Given the description of an element on the screen output the (x, y) to click on. 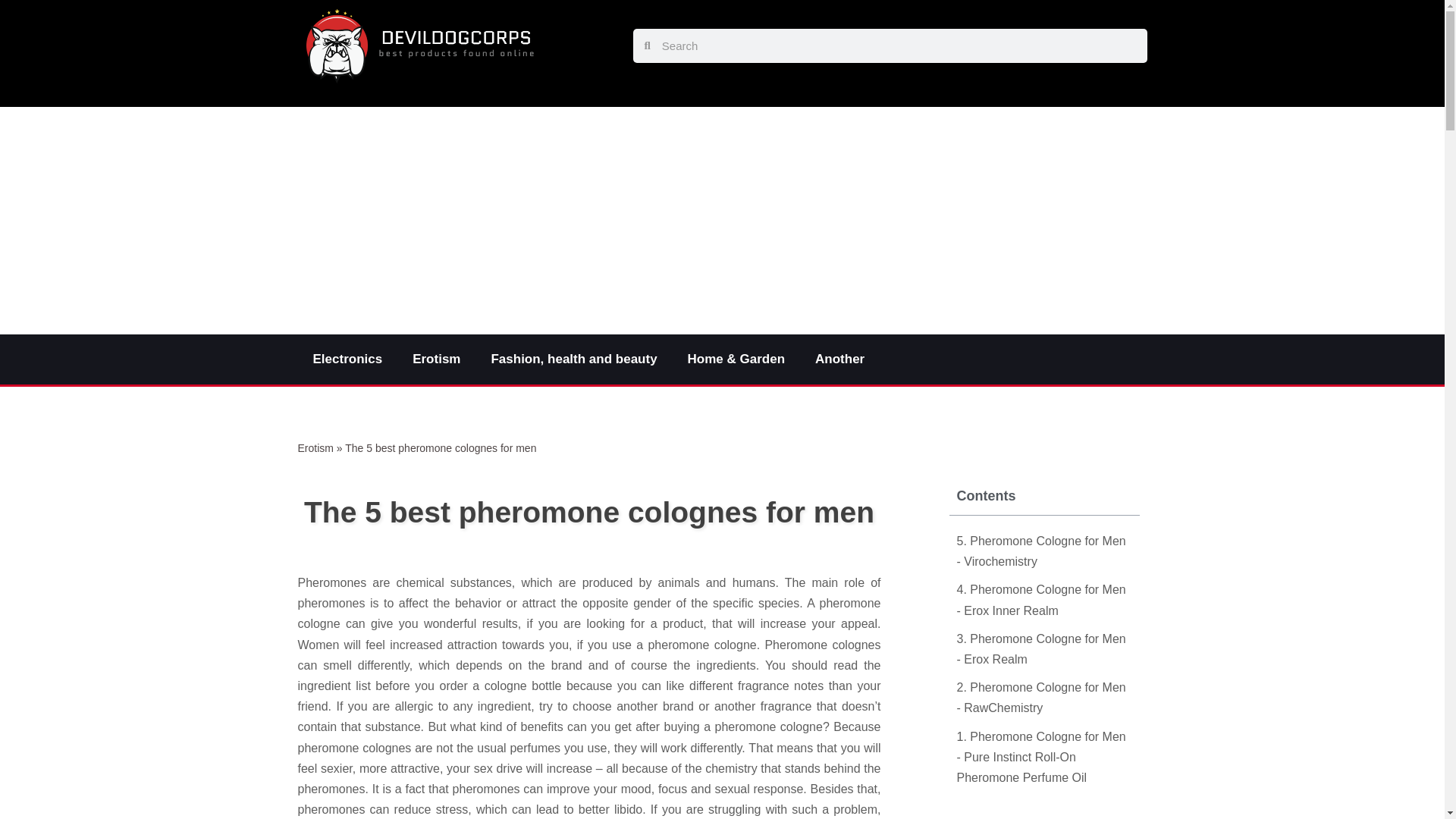
5. Pheromone Cologne for Men - Virochemistry (1044, 550)
Skip to content (11, 31)
4. Pheromone Cologne for Men - Erox Inner Realm (1044, 599)
Erotism (315, 448)
Fashion, health and beauty (573, 359)
Another (842, 359)
Erotism (436, 359)
Electronics (347, 359)
